Given the description of an element on the screen output the (x, y) to click on. 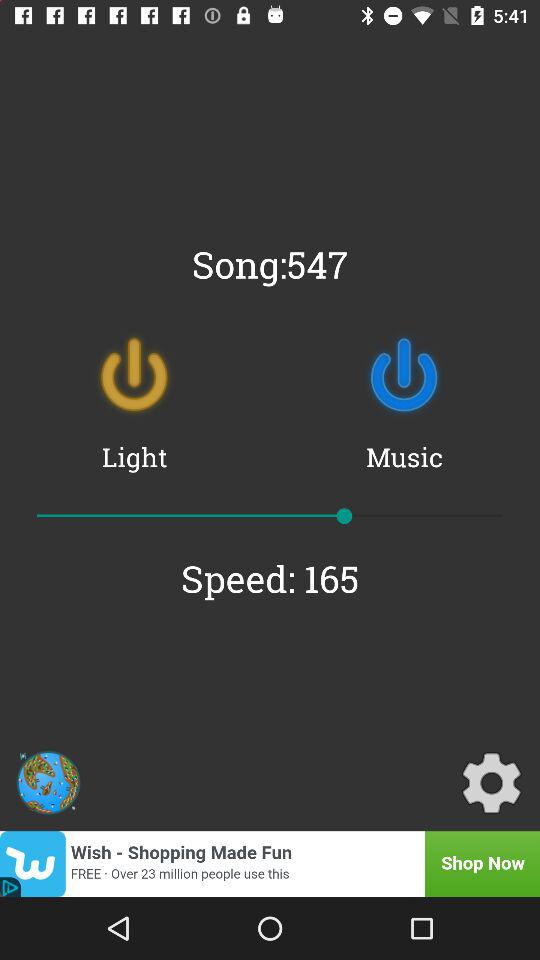
launch the item at the bottom right corner (491, 782)
